Given the description of an element on the screen output the (x, y) to click on. 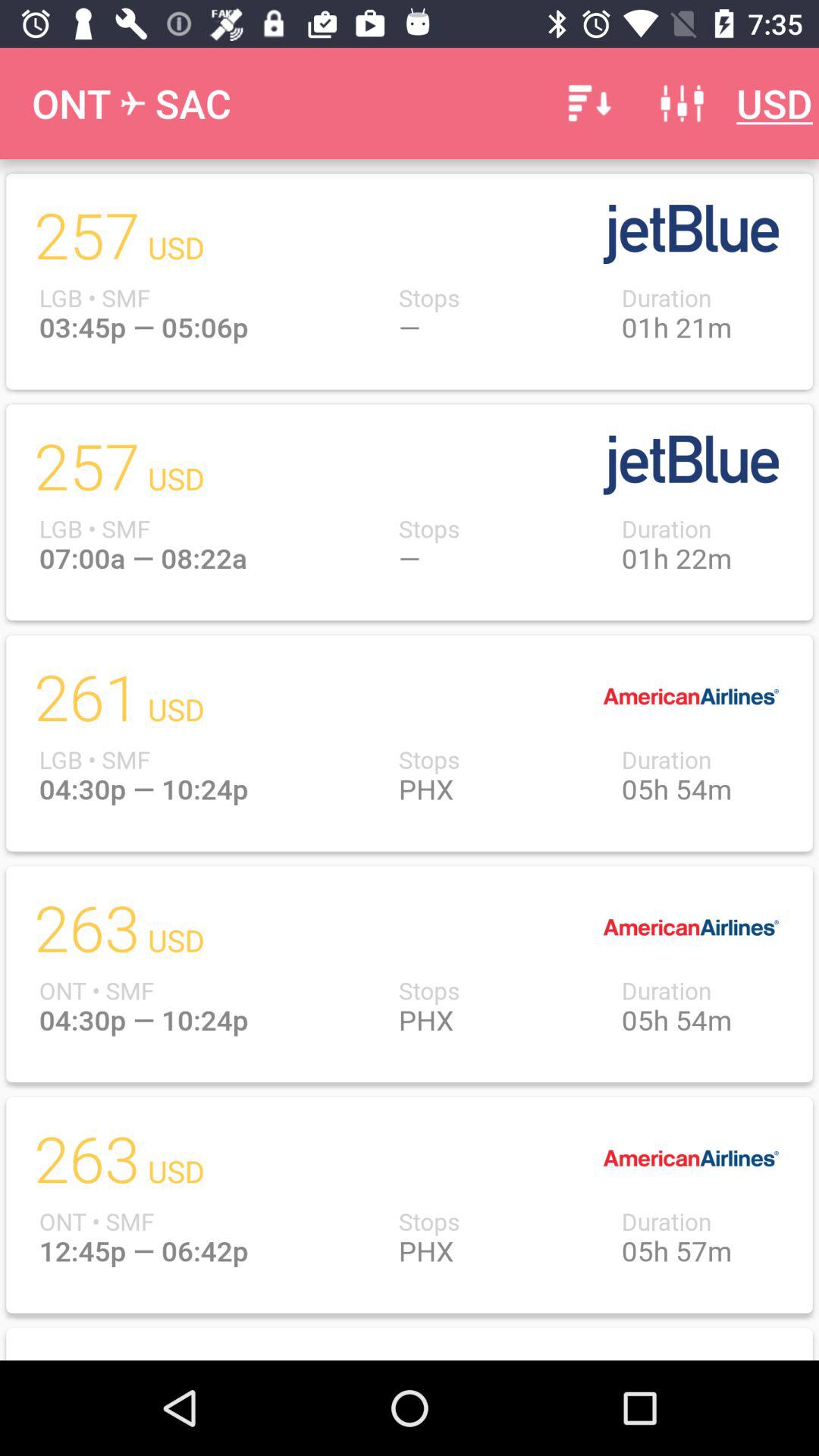
press item next to the sac (586, 103)
